Given the description of an element on the screen output the (x, y) to click on. 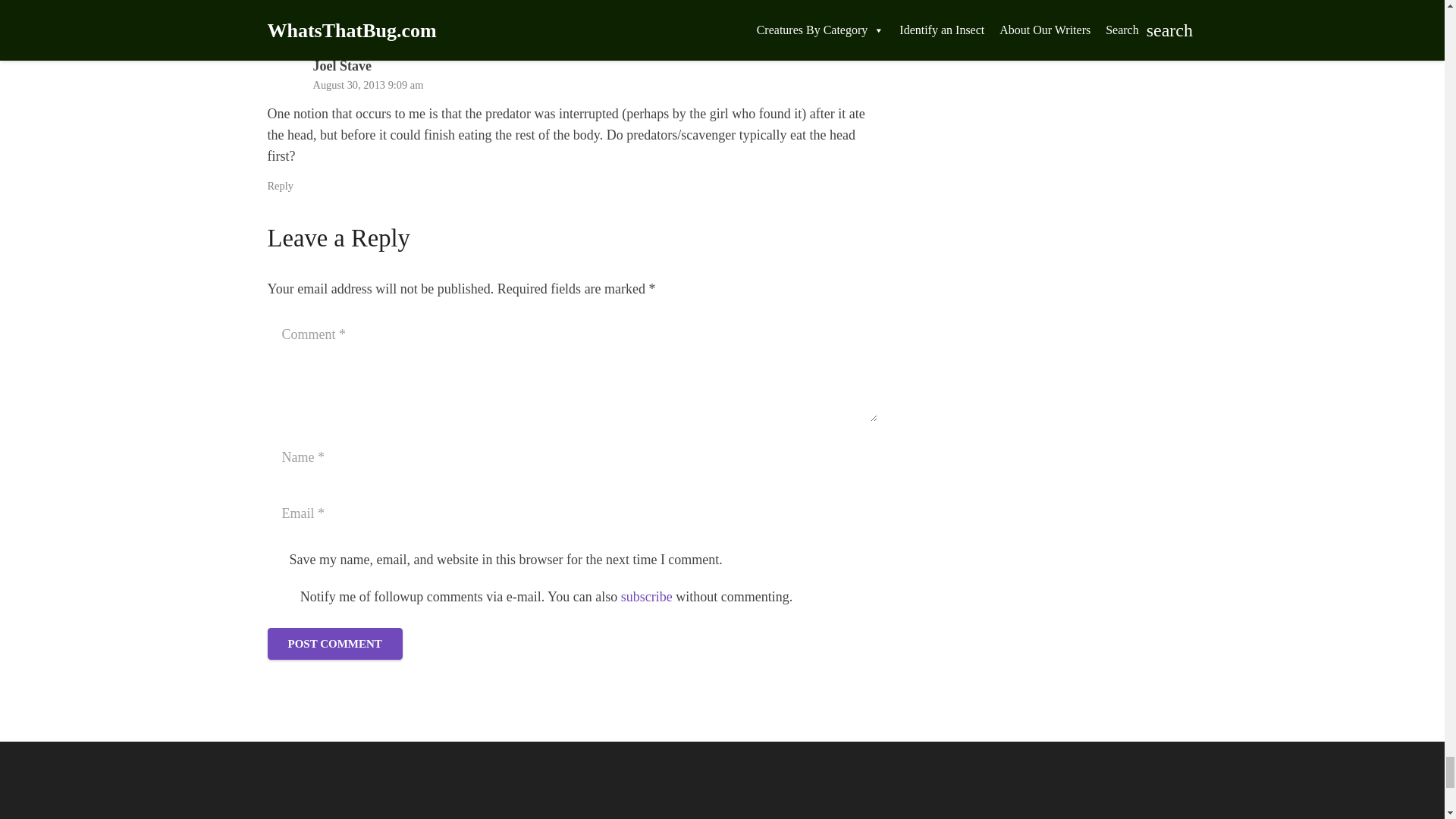
August 30, 2013 9:09 am (368, 84)
1 (274, 560)
yes (278, 596)
